Given the description of an element on the screen output the (x, y) to click on. 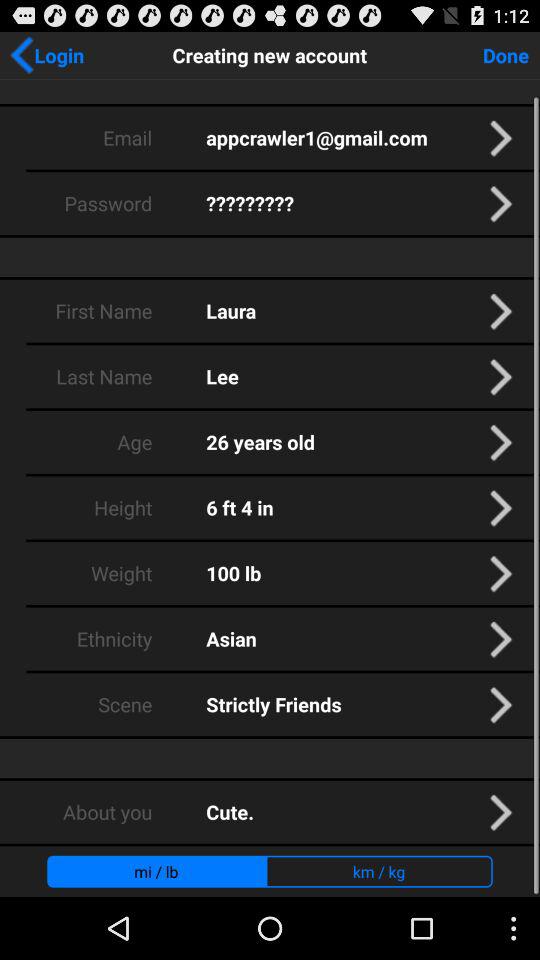
flip until mi / lb (156, 871)
